Given the description of an element on the screen output the (x, y) to click on. 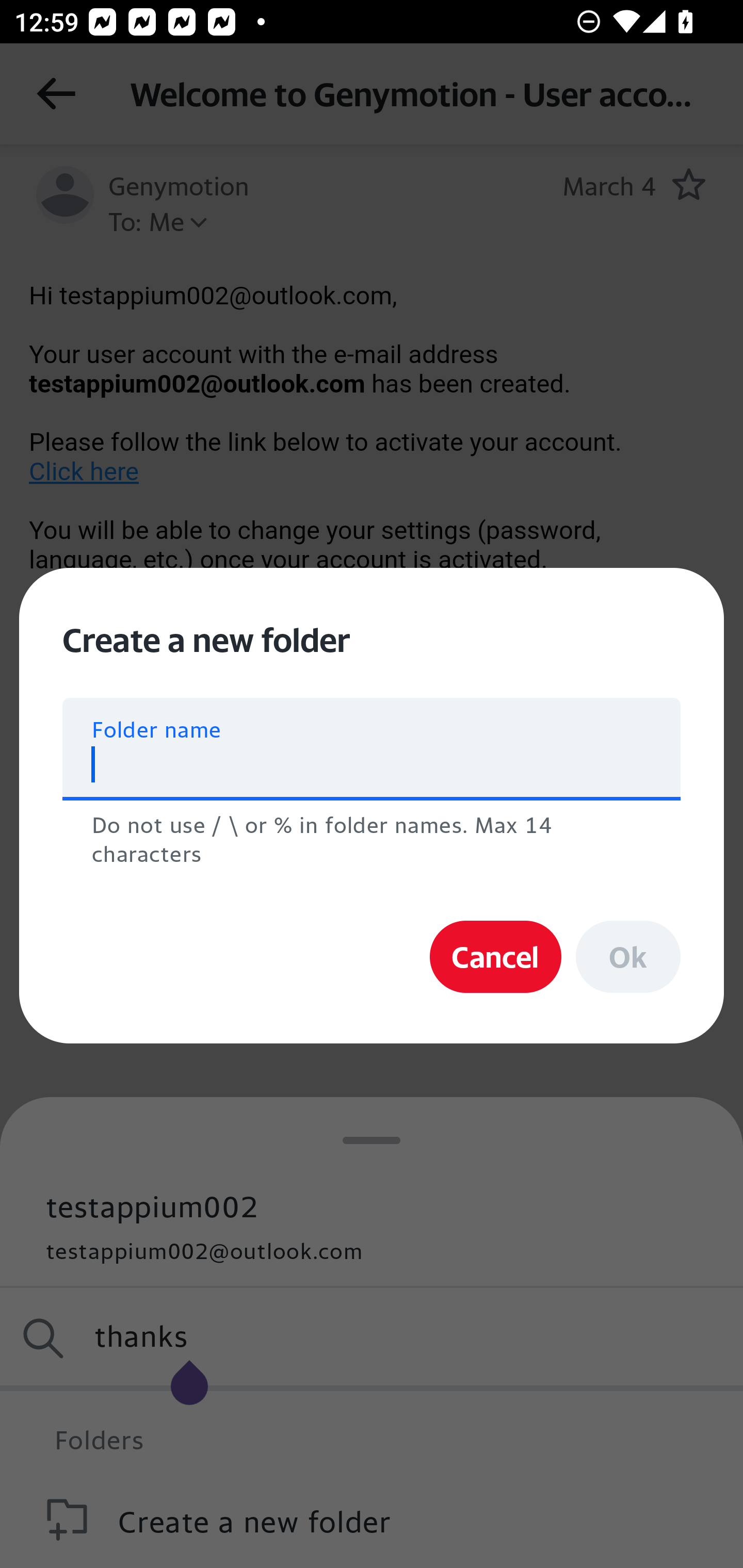
Cancel (495, 957)
Ok (627, 957)
